Given the description of an element on the screen output the (x, y) to click on. 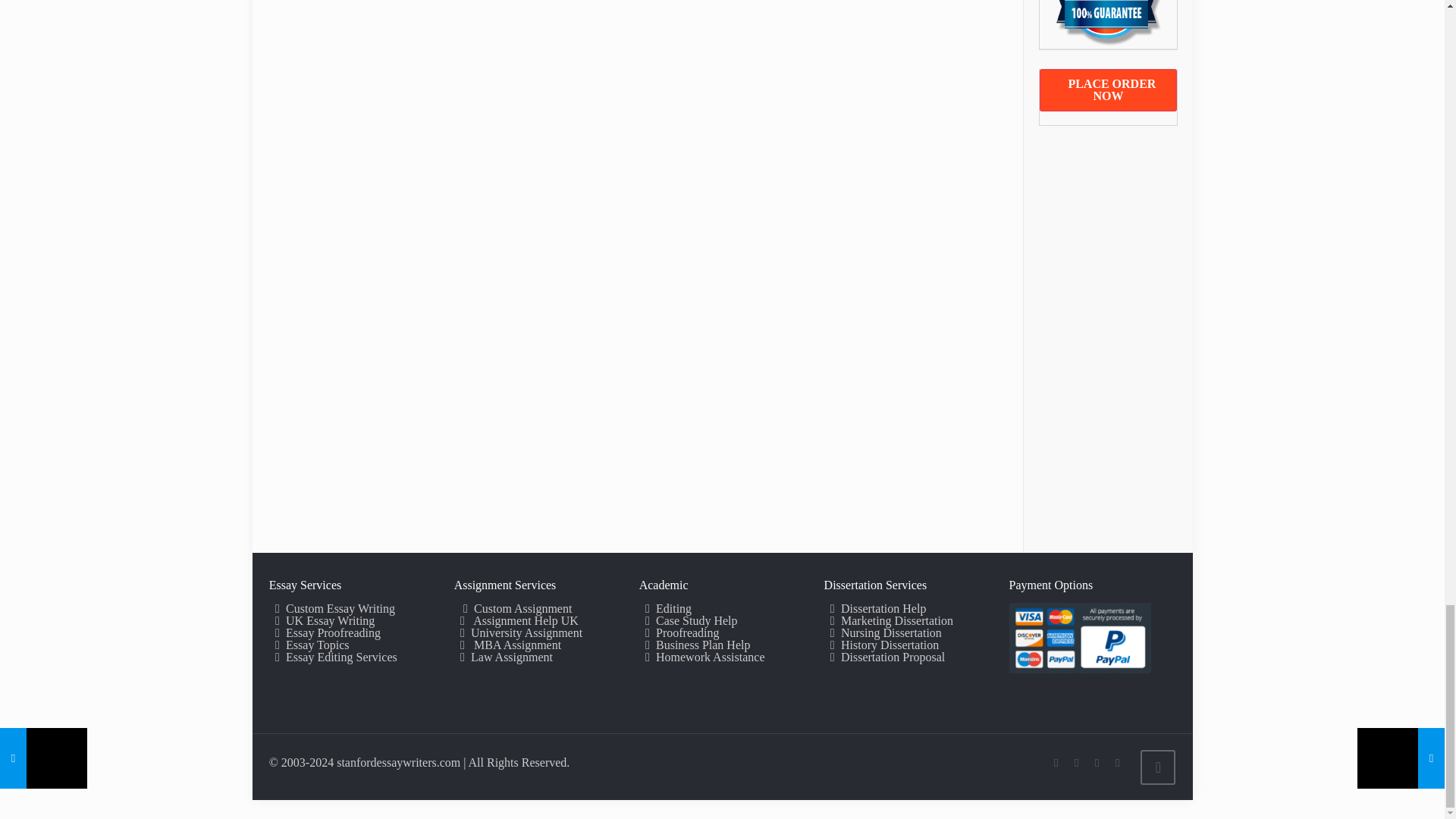
Instagram (1117, 762)
WhatsApp (1056, 762)
Facebook (1076, 762)
Twitter (1097, 762)
